Given the description of an element on the screen output the (x, y) to click on. 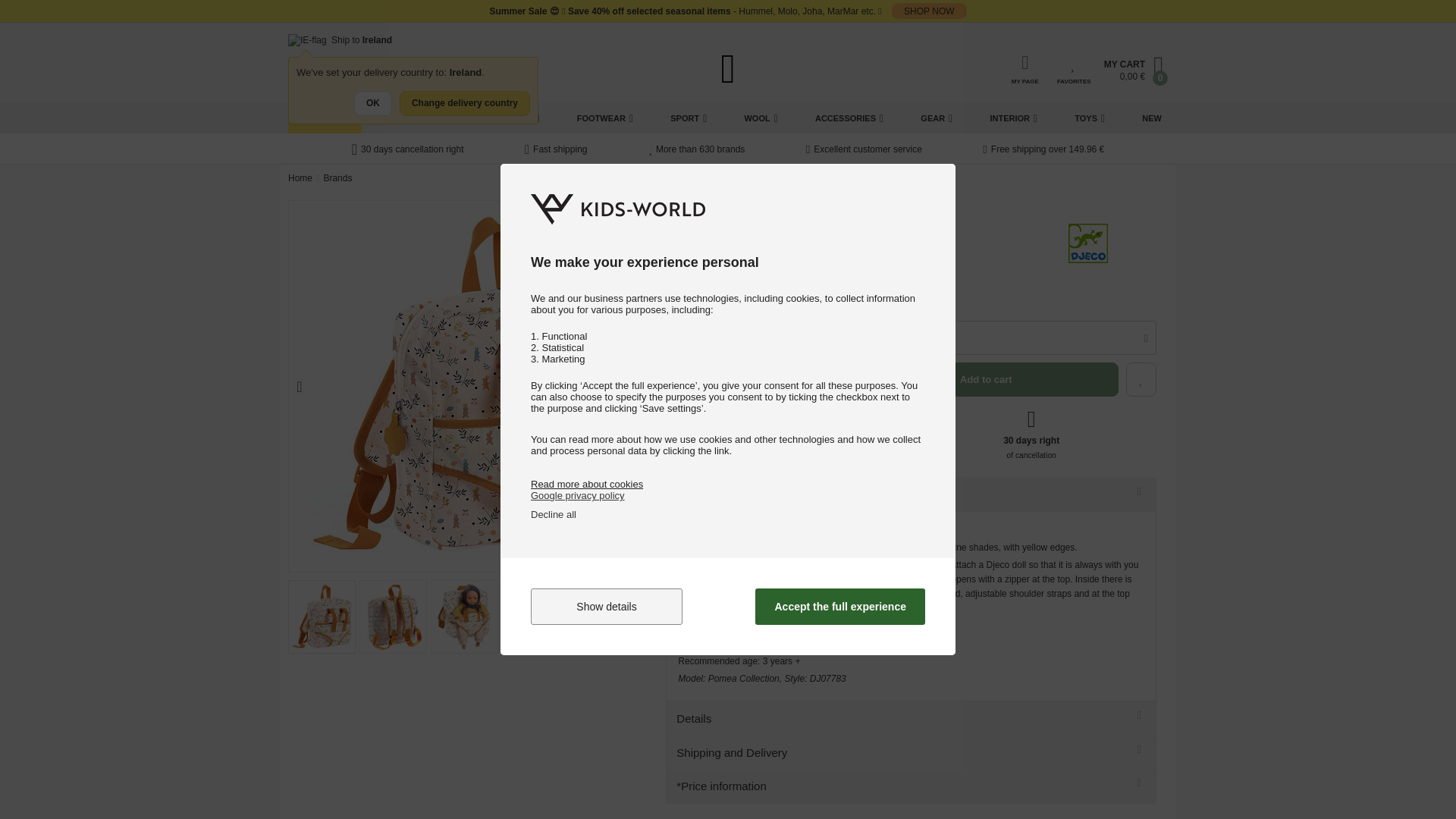
Read more about cookies (587, 483)
Accept the full experience (839, 606)
1 (687, 337)
Show details (606, 606)
Decline all (553, 514)
Google privacy policy (577, 495)
